Given the description of an element on the screen output the (x, y) to click on. 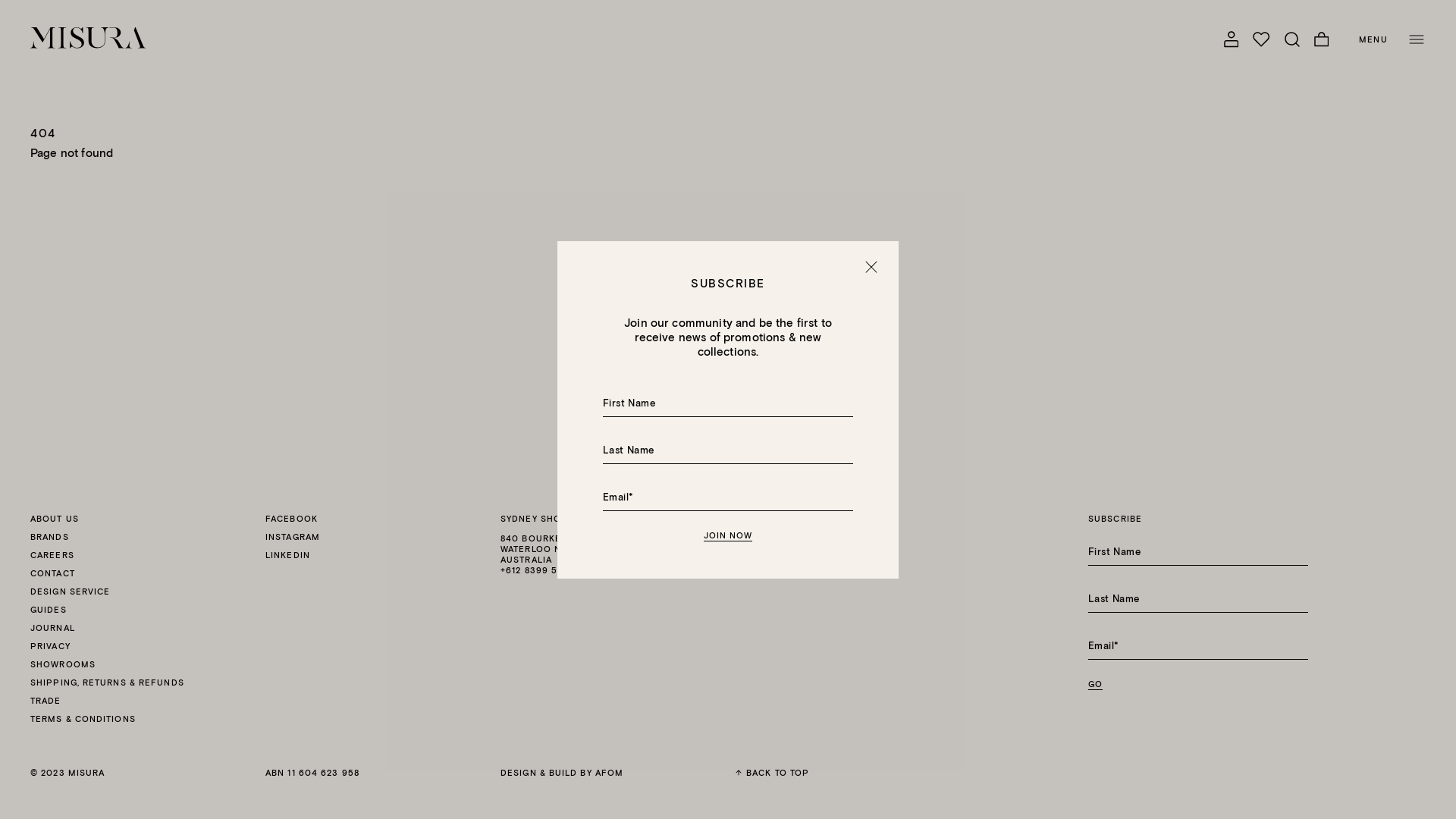
FACEBOOK Element type: text (291, 518)
PRIVACY Element type: text (50, 645)
TERMS & CONDITIONS Element type: text (82, 718)
JOIN NOW Element type: text (728, 534)
TRADE Element type: text (45, 700)
ABOUT US Element type: text (54, 518)
GO Element type: text (1095, 683)
BRANDS Element type: text (49, 536)
LINKEDIN Element type: text (287, 554)
SHOWROOMS Element type: text (62, 663)
GUIDES Element type: text (48, 609)
INSTAGRAM Element type: text (375, 536)
DESIGN SERVICE Element type: text (69, 591)
JOURNAL Element type: text (52, 627)
MELBOURNE SHOWROOM Element type: text (796, 518)
AFOM Element type: text (609, 772)
LINKEDIN Element type: text (375, 554)
BACK TO TOP Element type: text (772, 772)
CAREERS Element type: text (52, 554)
MENU Element type: text (1391, 39)
SHIPPING, RETURNS & REFUNDS Element type: text (107, 682)
610 CHURCH STREET
CREMORNE VIC 3121
AUSTRALIA
+613 9429 1221 Element type: text (845, 554)
CONTACT Element type: text (52, 572)
INSTAGRAM Element type: text (292, 536)
SYDNEY SHOWROOM Element type: text (549, 518)
FACEBOOK Element type: text (375, 518)
840 BOURKE STREET
WATERLOO NSW 2017
AUSTRALIA
+612 8399 5630 Element type: text (610, 554)
